Given the description of an element on the screen output the (x, y) to click on. 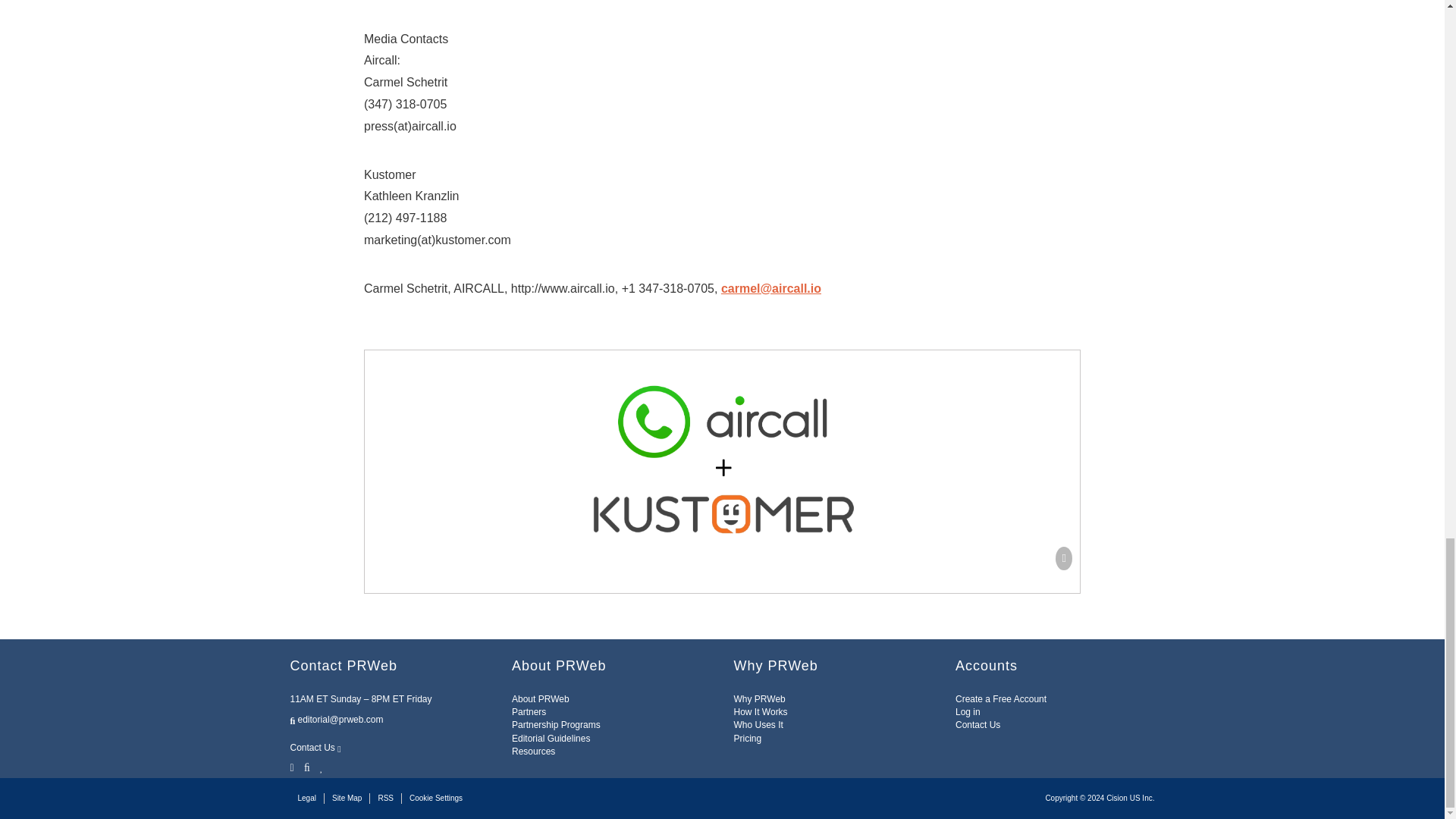
Partnership Programs (555, 724)
Why PRWeb (759, 698)
Editorial Guidelines (550, 738)
Partners (529, 711)
How It Works (760, 711)
Facebook (306, 766)
About PRWeb (540, 698)
Resources (533, 751)
